Given the description of an element on the screen output the (x, y) to click on. 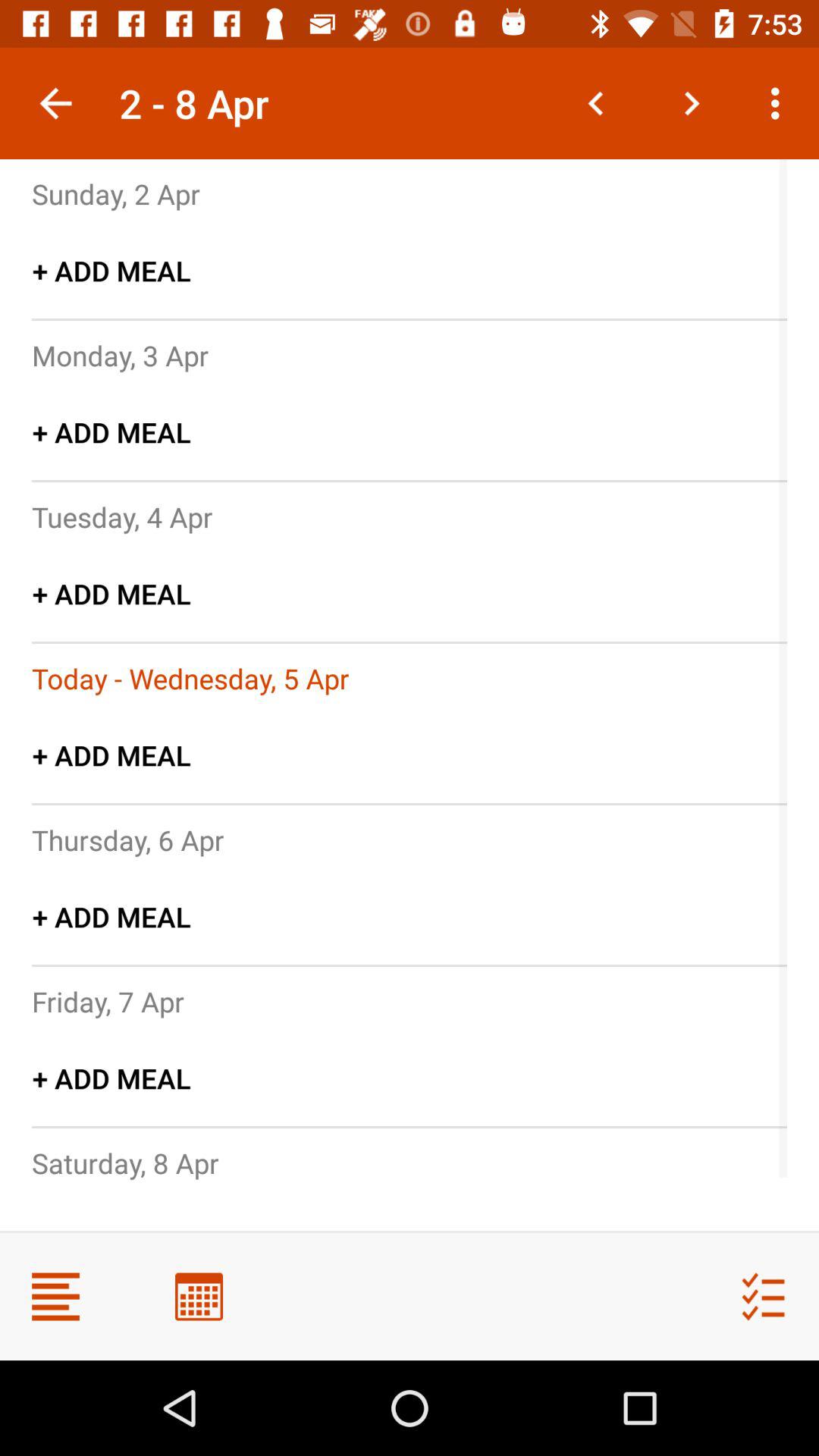
show listing (55, 1296)
